Given the description of an element on the screen output the (x, y) to click on. 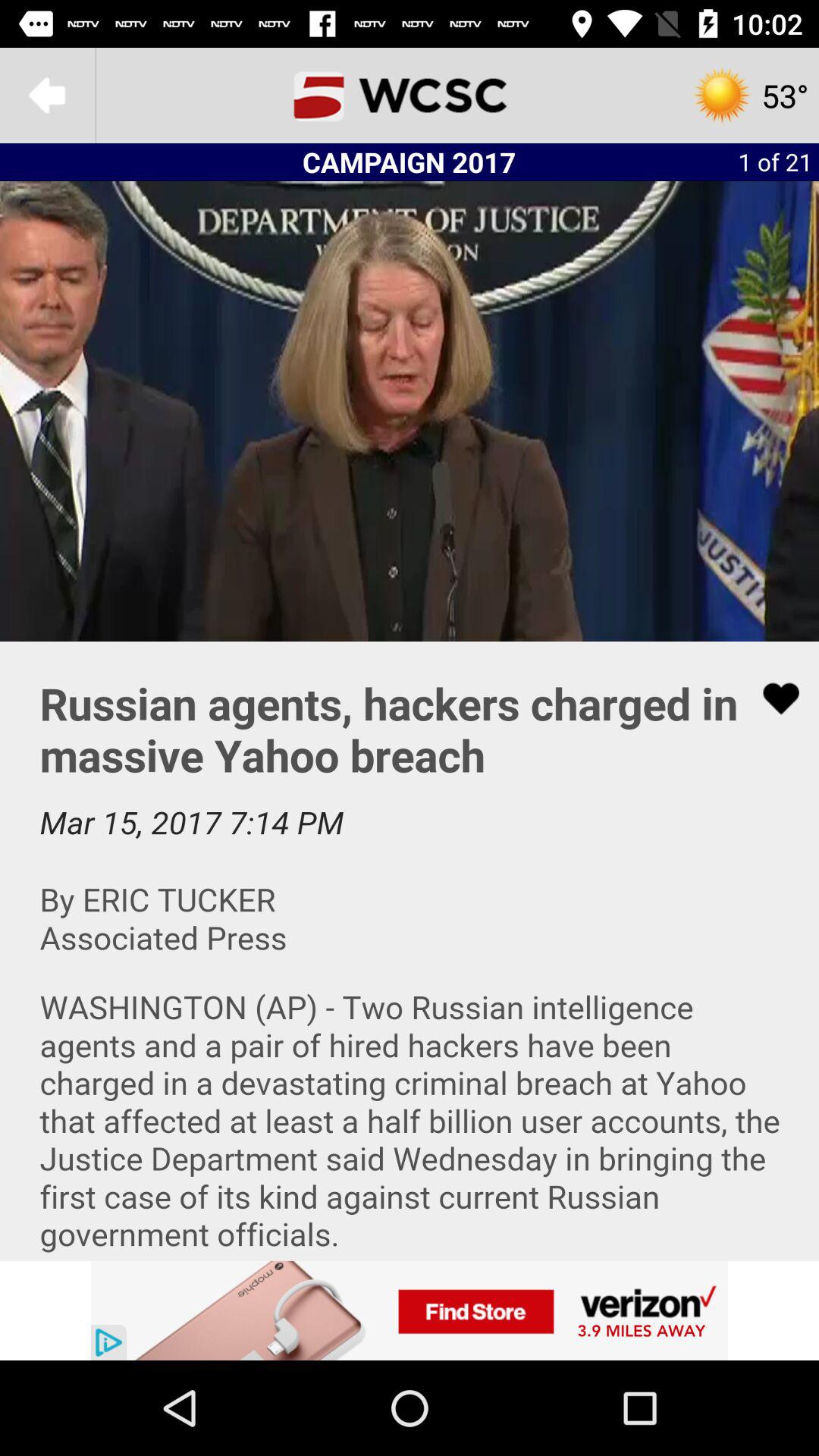
advertisement go to verizon and find store (409, 1310)
